Given the description of an element on the screen output the (x, y) to click on. 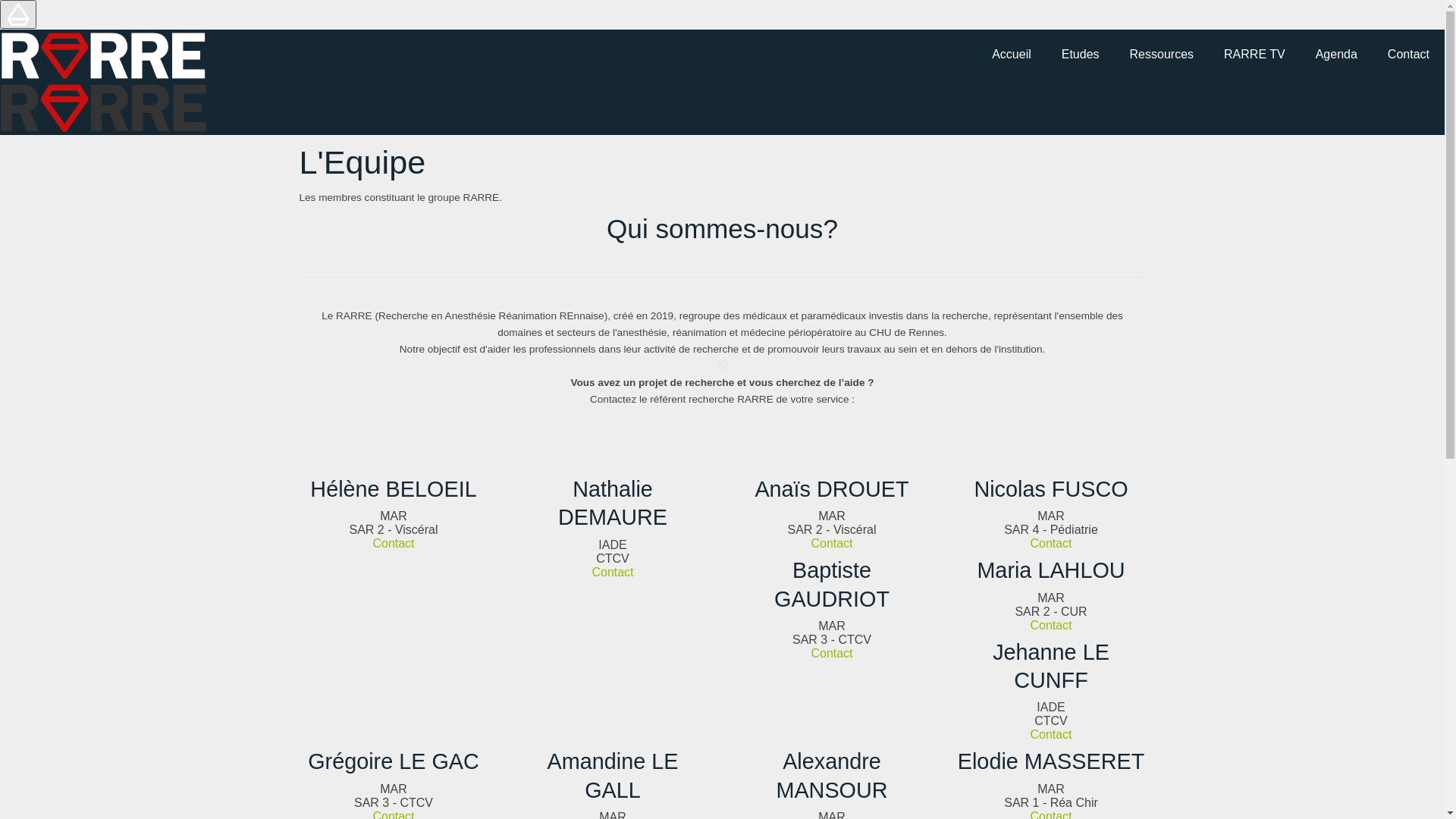
RARRE TV Element type: text (1254, 54)
Contact Element type: text (1408, 54)
Contact Element type: text (393, 542)
Contact Element type: text (831, 542)
Contact Element type: text (612, 571)
Etudes Element type: text (1080, 54)
Agenda Element type: text (1336, 54)
Ressources Element type: text (1161, 54)
Contact Element type: text (1050, 734)
Contact Element type: text (1050, 624)
Accueil Element type: text (1011, 54)
Contact Element type: text (831, 652)
Contact Element type: text (1050, 542)
